Given the description of an element on the screen output the (x, y) to click on. 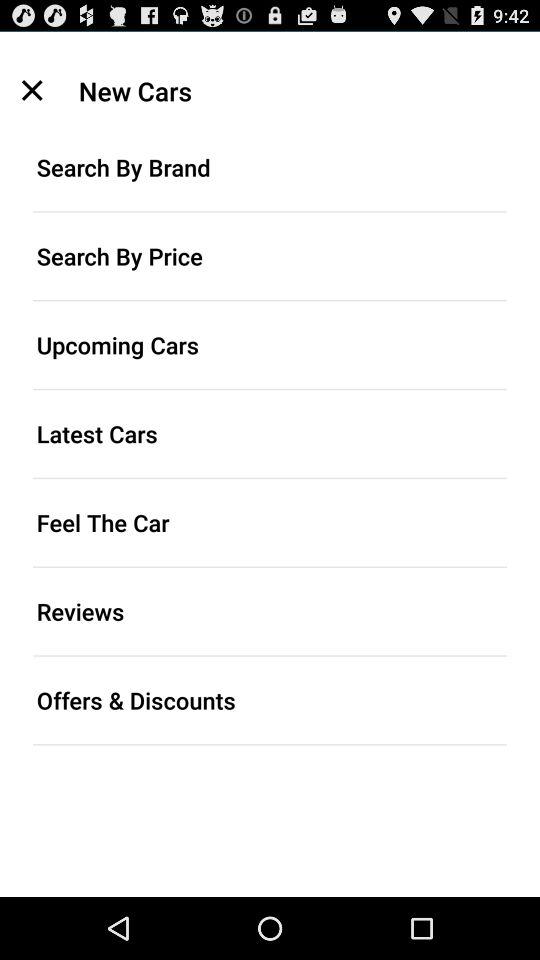
scroll to upcoming cars (270, 344)
